Given the description of an element on the screen output the (x, y) to click on. 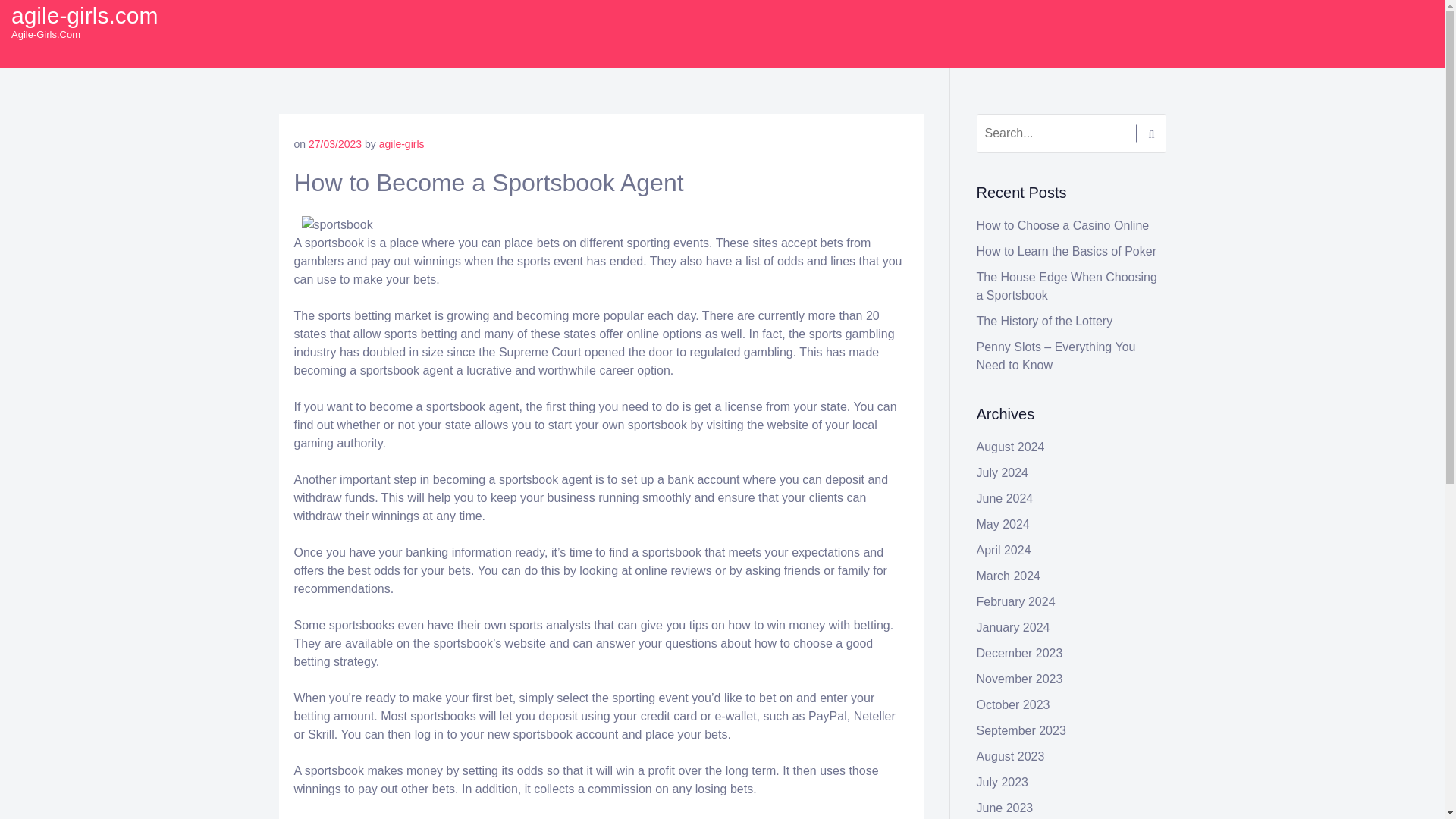
July 2024 (1002, 472)
March 2024 (1008, 575)
July 2023 (1002, 781)
August 2023 (1010, 756)
September 2023 (1020, 730)
How to Learn the Basics of Poker (1066, 250)
The House Edge When Choosing a Sportsbook (1066, 286)
February 2024 (1015, 601)
The History of the Lottery (1044, 320)
agile-girls (401, 143)
